Given the description of an element on the screen output the (x, y) to click on. 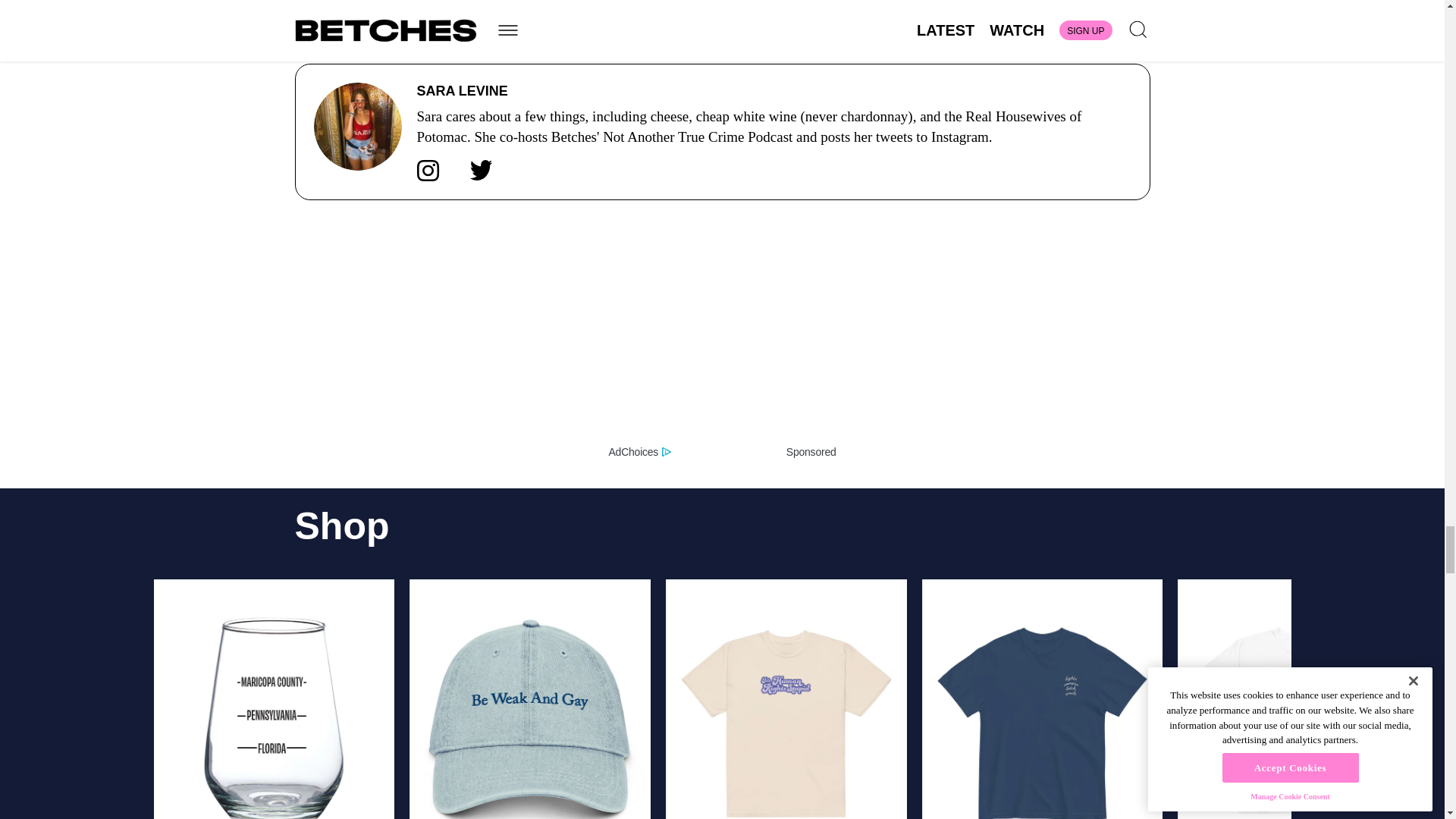
ad content (721, 336)
